Given the description of an element on the screen output the (x, y) to click on. 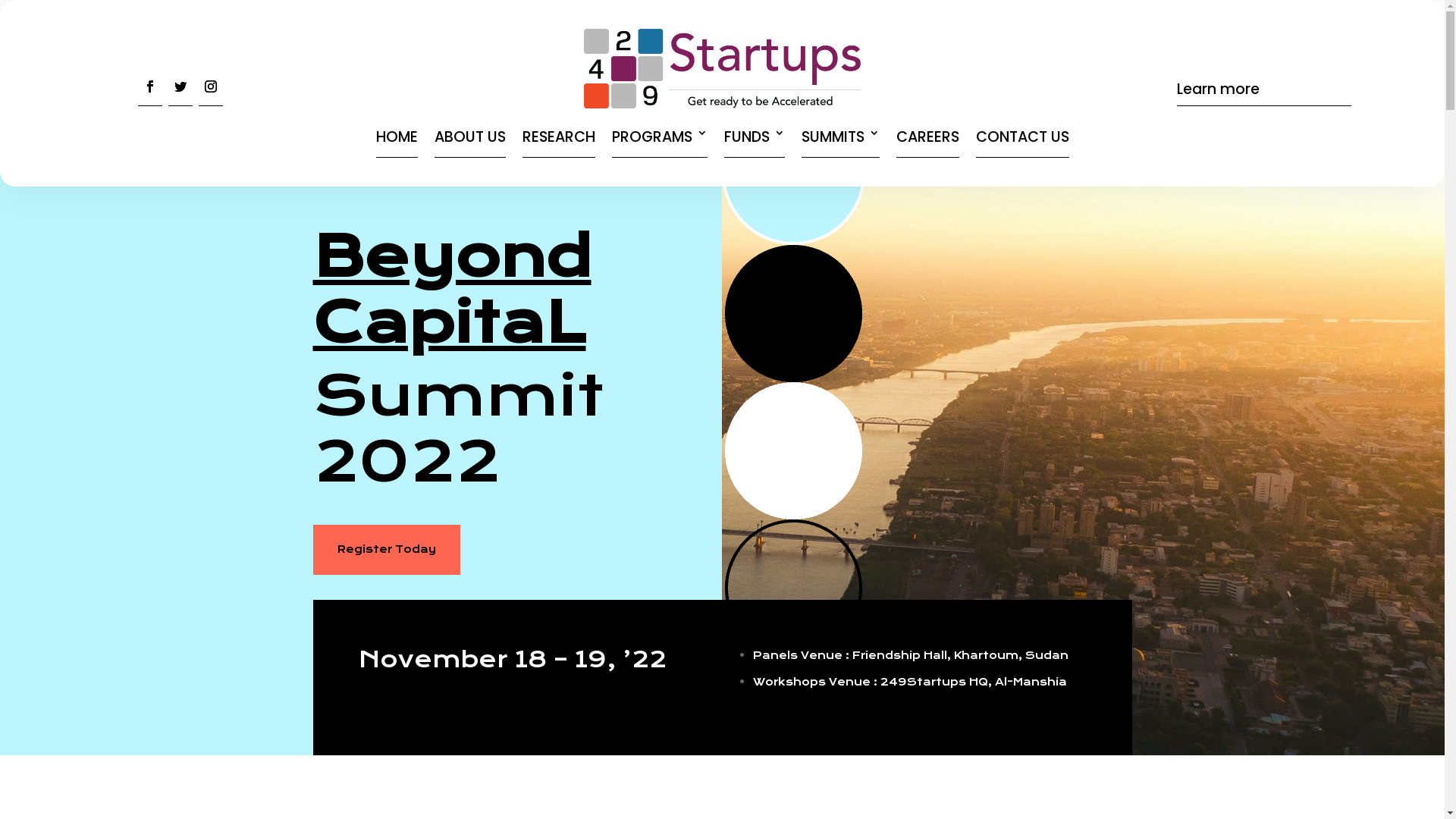
SUMMITS Element type: text (839, 132)
Follow on Facebook Element type: hover (150, 90)
ABOUT US Element type: text (469, 132)
Follow on Instagram Element type: hover (210, 90)
FUNDS Element type: text (753, 132)
Follow on Twitter Element type: hover (180, 90)
HOME Element type: text (396, 132)
CAREERS Element type: text (927, 132)
conference-47 Element type: hover (793, 378)
CONTACT US Element type: text (1021, 132)
RESEARCH Element type: text (557, 132)
PROGRAMS Element type: text (658, 132)
Register Today Element type: text (385, 549)
